Given the description of an element on the screen output the (x, y) to click on. 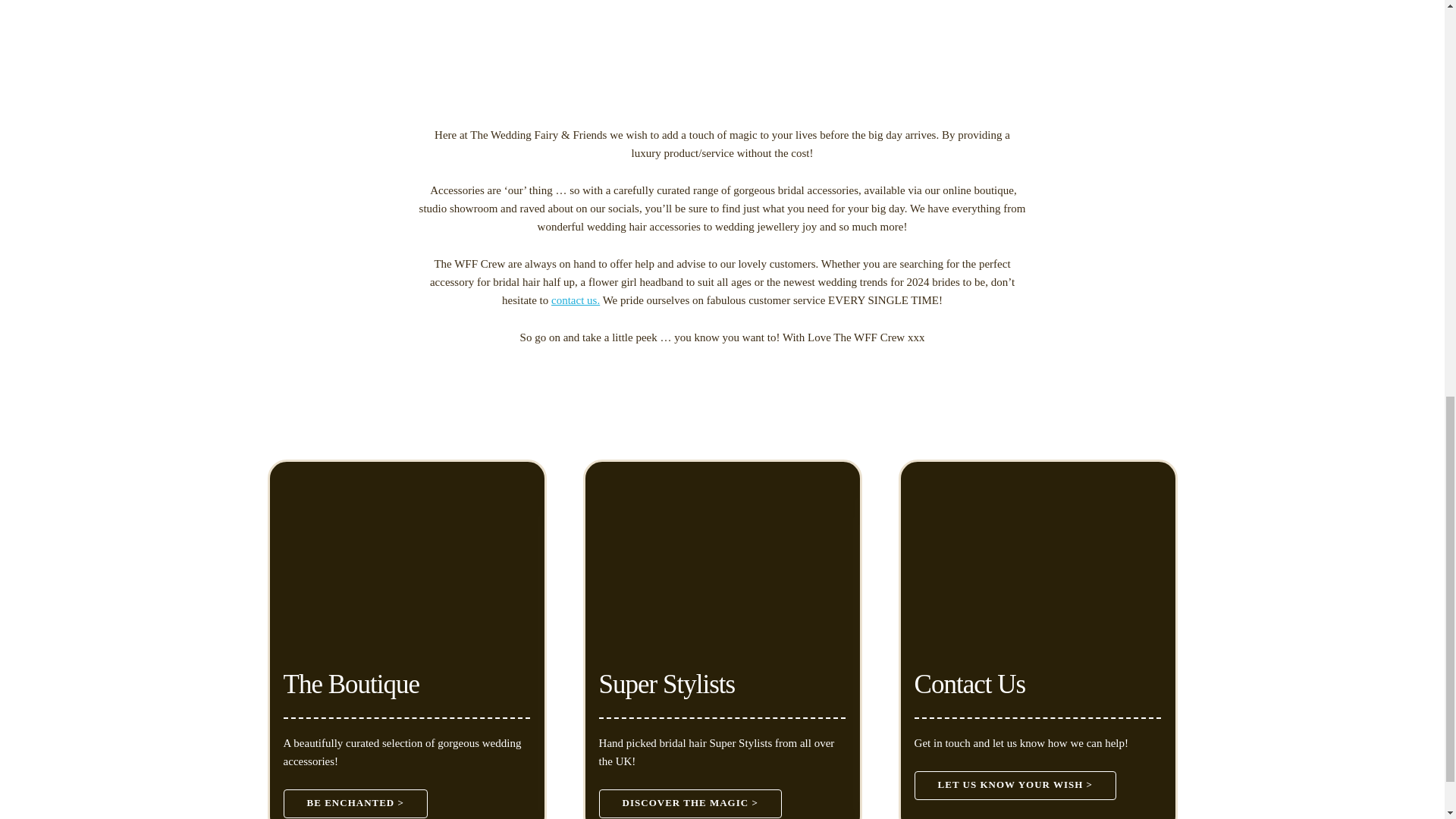
contact us. (575, 300)
